Given the description of an element on the screen output the (x, y) to click on. 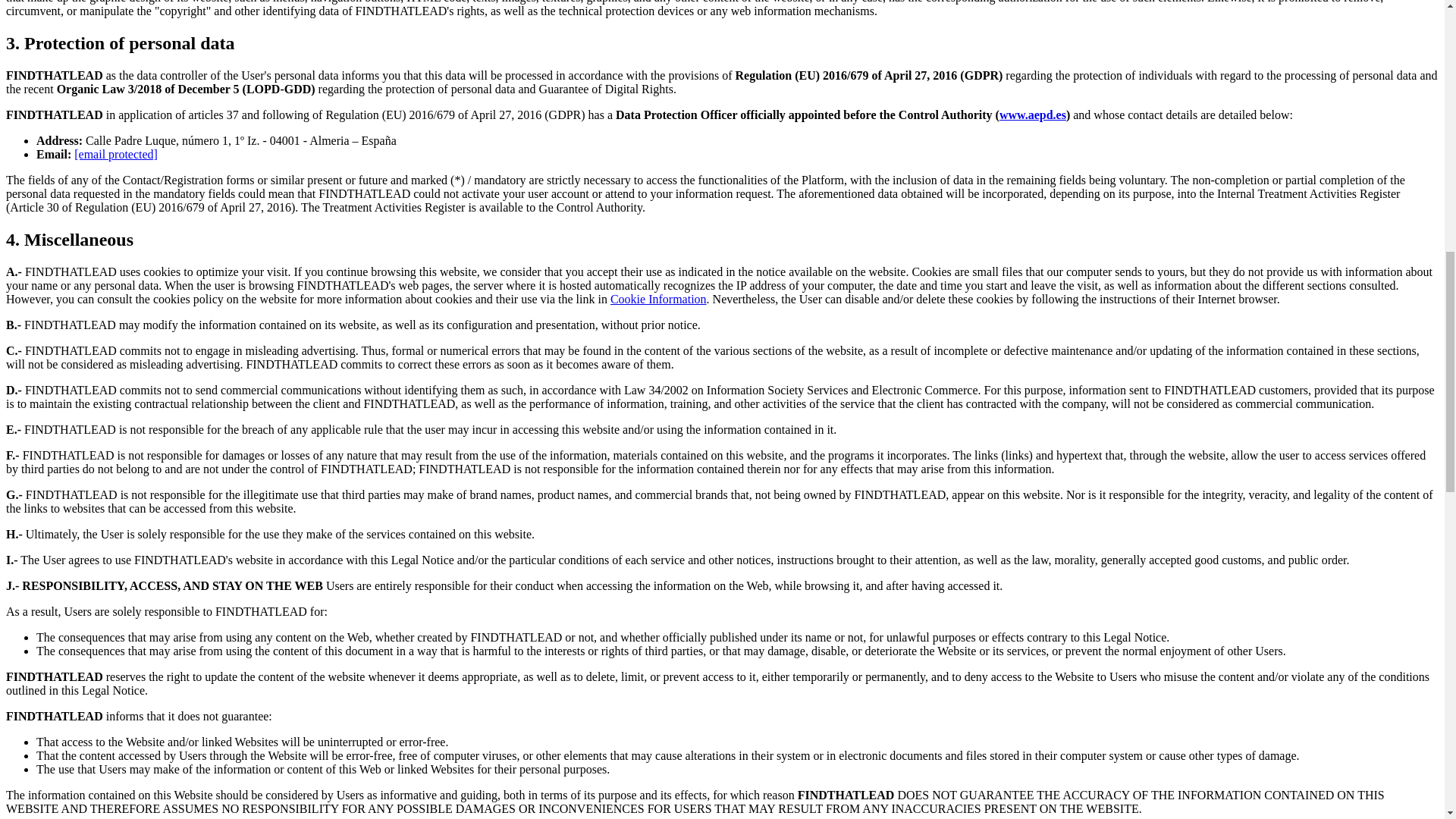
Cookie Information (658, 298)
www.aepd.es (1031, 114)
